Given the description of an element on the screen output the (x, y) to click on. 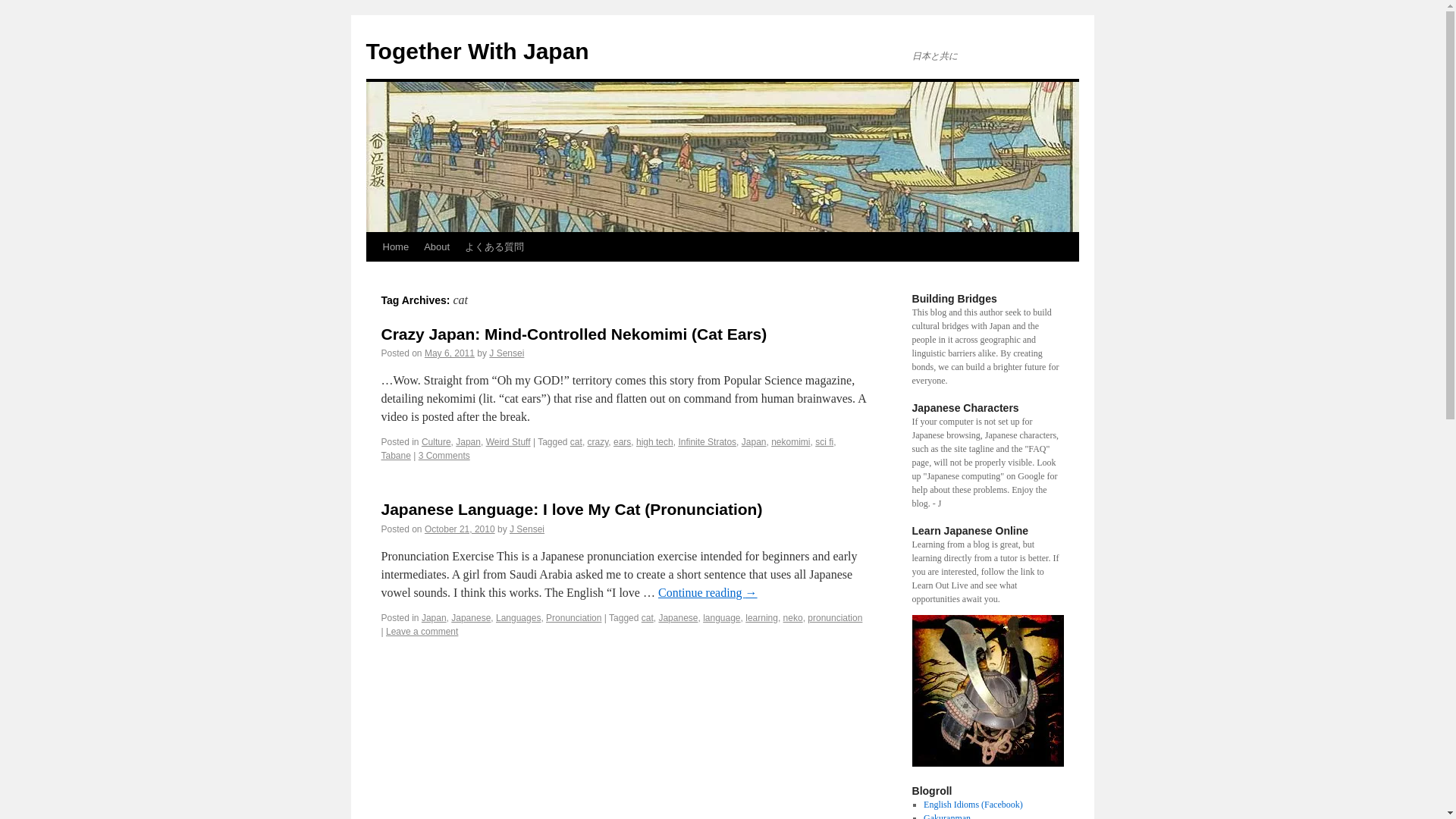
Tabane (395, 455)
May 6, 2011 (449, 353)
Infinite Stratos (707, 441)
J Sensei (526, 529)
View all posts by J Sensei (506, 353)
cat (647, 617)
Home (395, 246)
crazy (598, 441)
nekomimi (790, 441)
Pronunciation (573, 617)
Gakuranman (947, 816)
Japan (467, 441)
Japanese (677, 617)
learning (761, 617)
ears (621, 441)
